Given the description of an element on the screen output the (x, y) to click on. 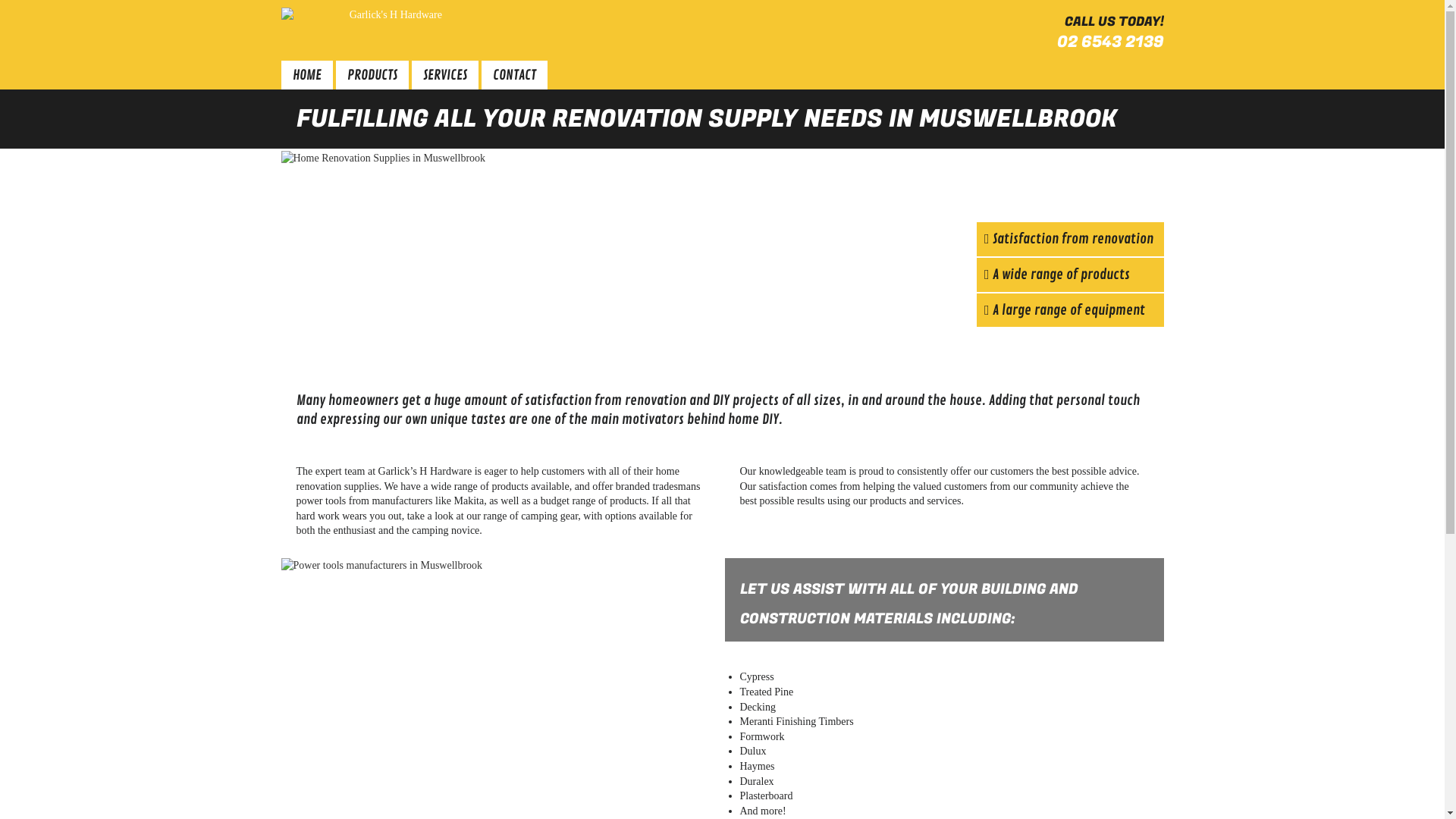
PRODUCTS Element type: text (372, 74)
CONTACT Element type: text (514, 74)
SERVICES Element type: text (445, 74)
Home Renovation Supplies in Muswellbrook Element type: hover (721, 260)
02 6543 2139 Element type: text (1110, 41)
HOME Element type: text (306, 74)
Garlick's H Hardware Element type: hover (389, 14)
